Given the description of an element on the screen output the (x, y) to click on. 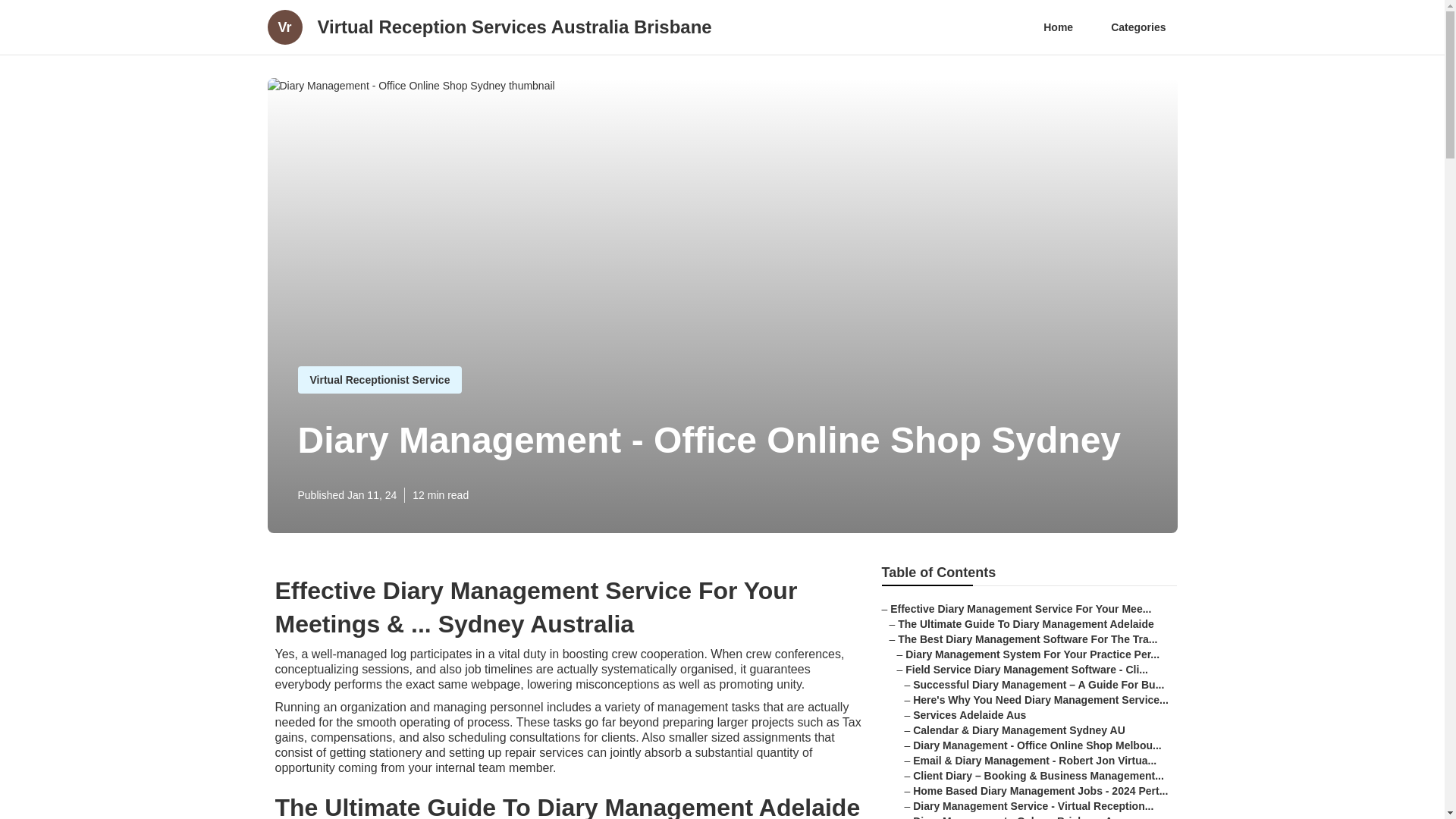
Categories (1137, 27)
Virtual Receptionist Service (378, 379)
Home (1058, 27)
